Given the description of an element on the screen output the (x, y) to click on. 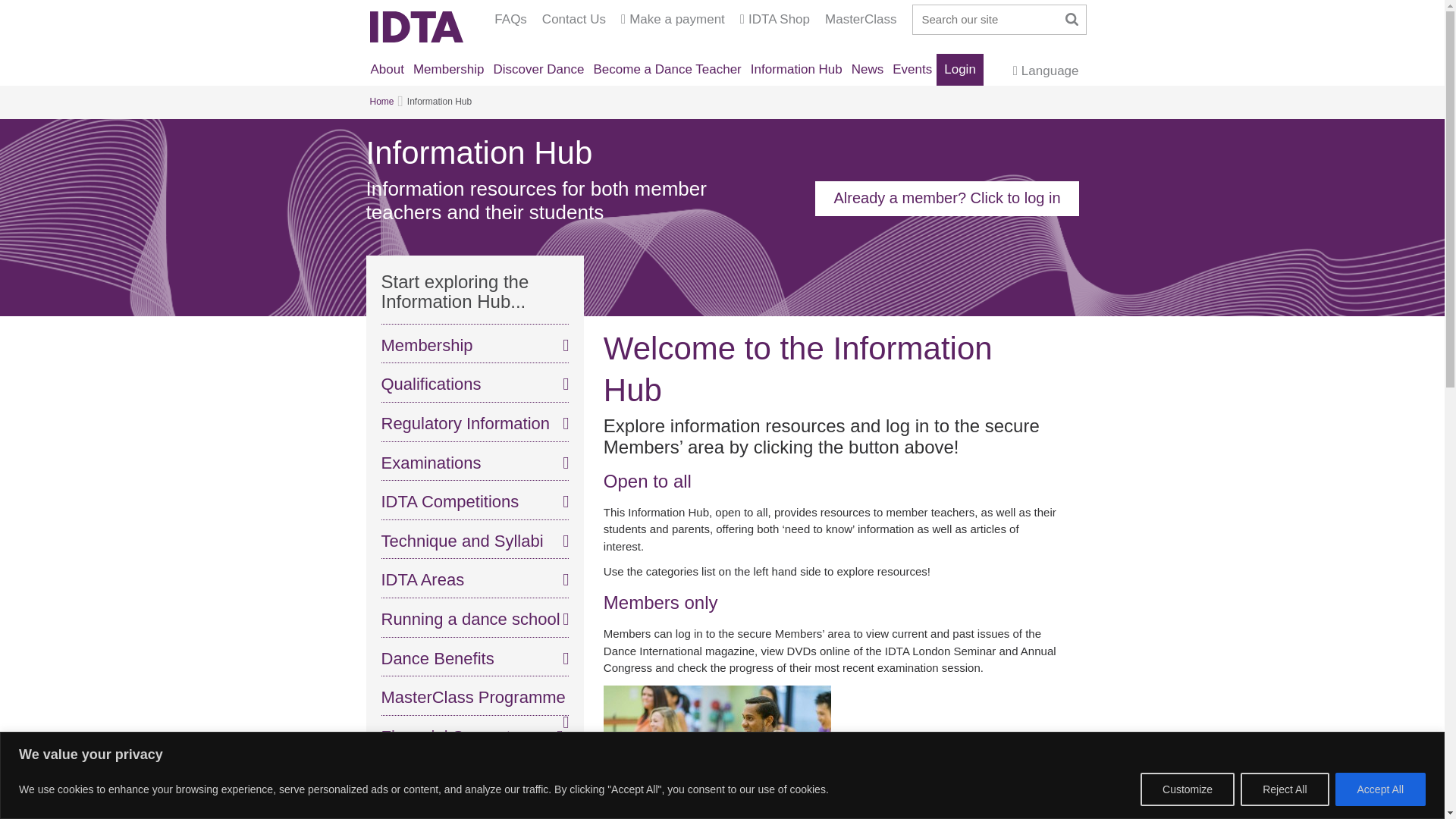
Accept All (1380, 788)
About (386, 69)
IDTA Shop (774, 19)
Discover Dance (537, 69)
Become a Dance Teacher (666, 69)
Events (912, 69)
Go to International Dance Teachers' Association. (381, 101)
Membership (449, 69)
Information Hub (796, 69)
Make a payment (673, 19)
Home (416, 26)
Customize (1187, 788)
Language (1046, 69)
News (867, 69)
IDTA shop (774, 19)
